Given the description of an element on the screen output the (x, y) to click on. 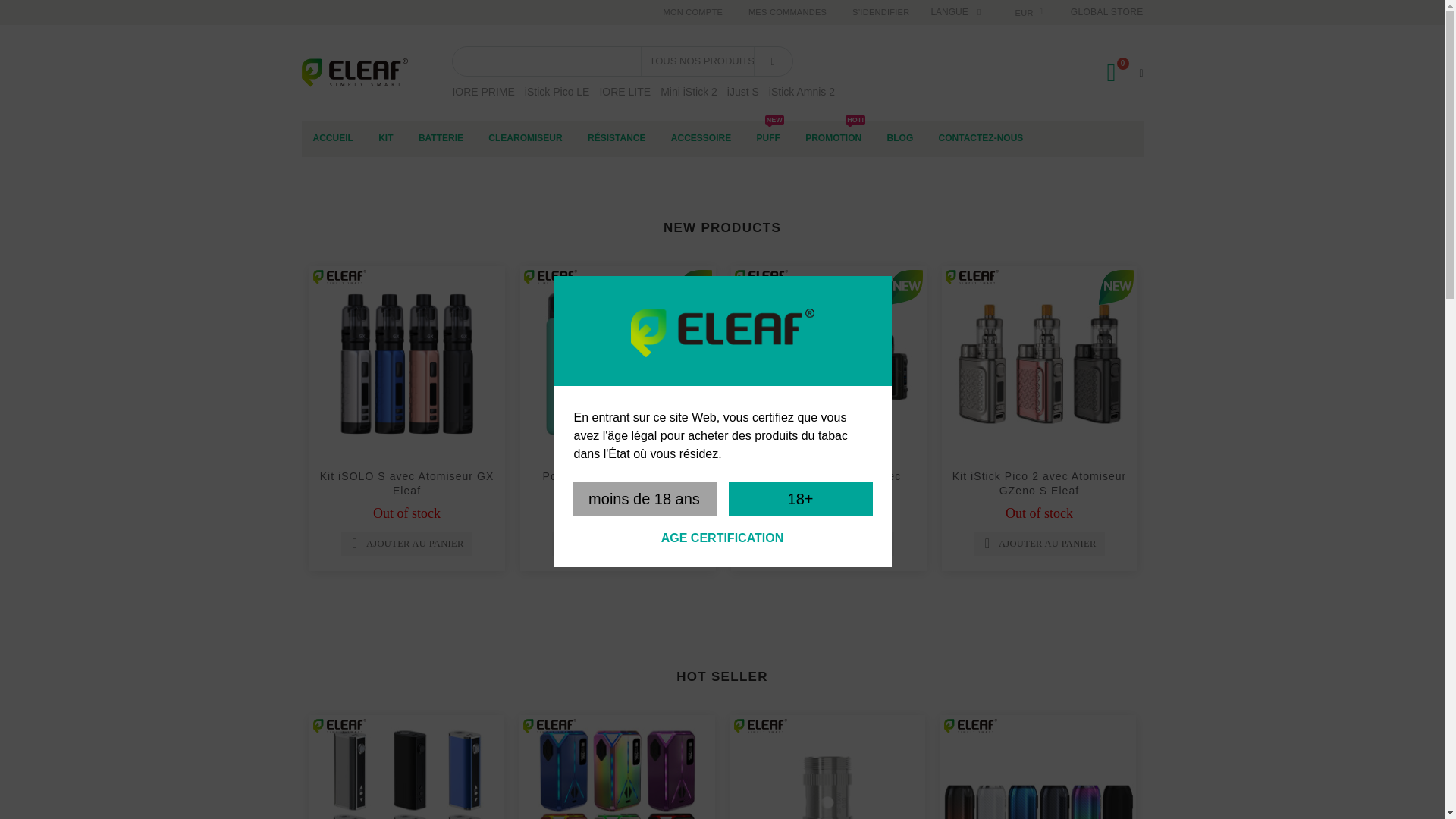
Kit iSOLO S avec Atomiseur GX Eleaf (407, 483)
Kit iStick Pico 2 avec Atomiseur GZeno S Eleaf (1039, 483)
Pod Kit IORE LITE 350mAh Eleaf (618, 483)
0 (1117, 72)
CONTACTEZ-NOUS (981, 138)
Batterie Lexicon TC 235W Eleaf (616, 766)
Kit iStick Pico 2 avec Atomiseur GZeno S Eleaf (1039, 363)
Kit iSOLO S avec Atomiseur GX Eleaf (406, 363)
IORE LITE (624, 91)
KIT (385, 138)
